Given the description of an element on the screen output the (x, y) to click on. 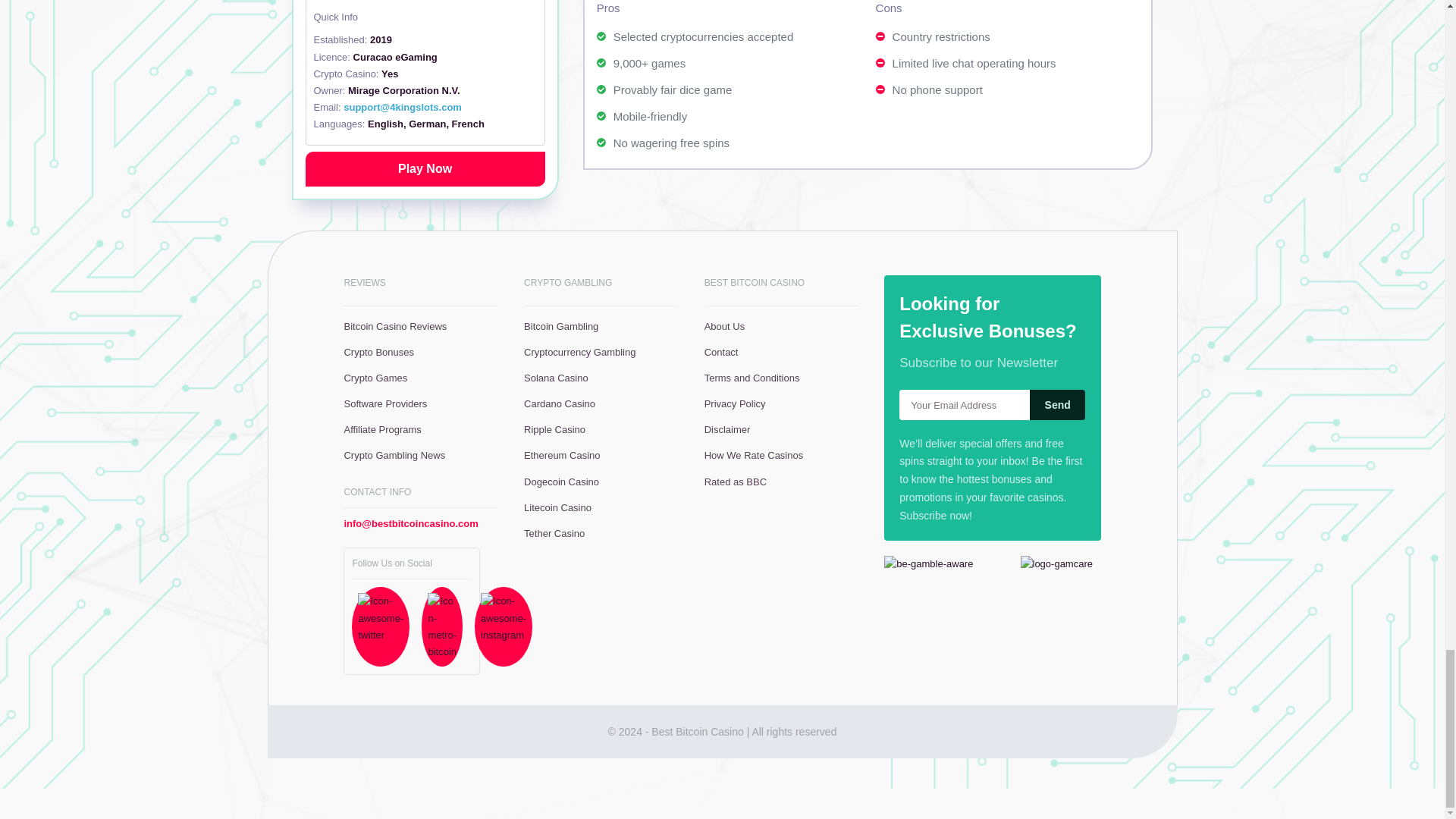
Send (1057, 404)
